Given the description of an element on the screen output the (x, y) to click on. 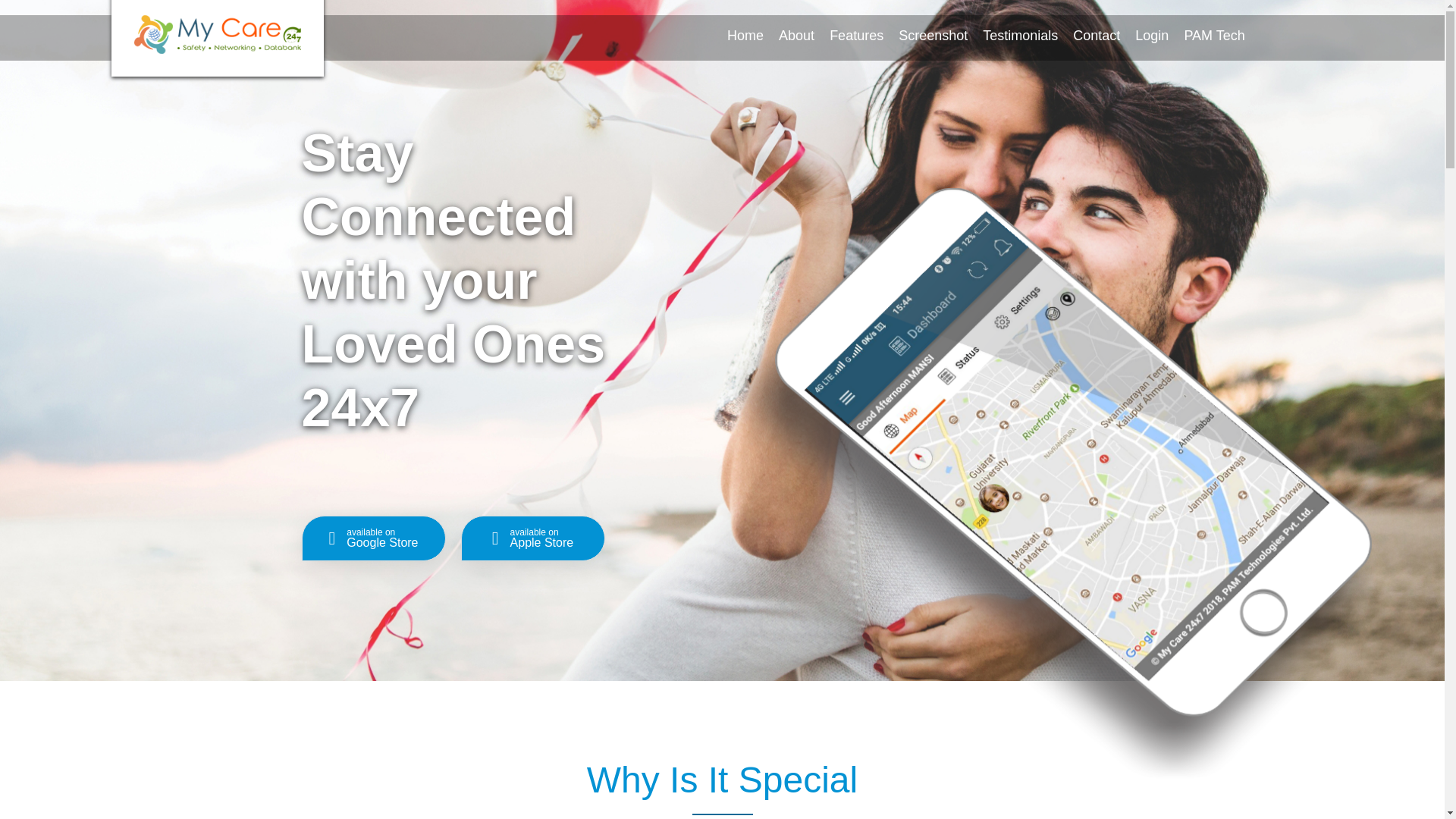
Privacy Policy (785, 699)
Testimonials (1020, 36)
Features (856, 36)
About (572, 699)
PAM Tech (1214, 36)
Screenshot (933, 36)
Contact (373, 538)
